Given the description of an element on the screen output the (x, y) to click on. 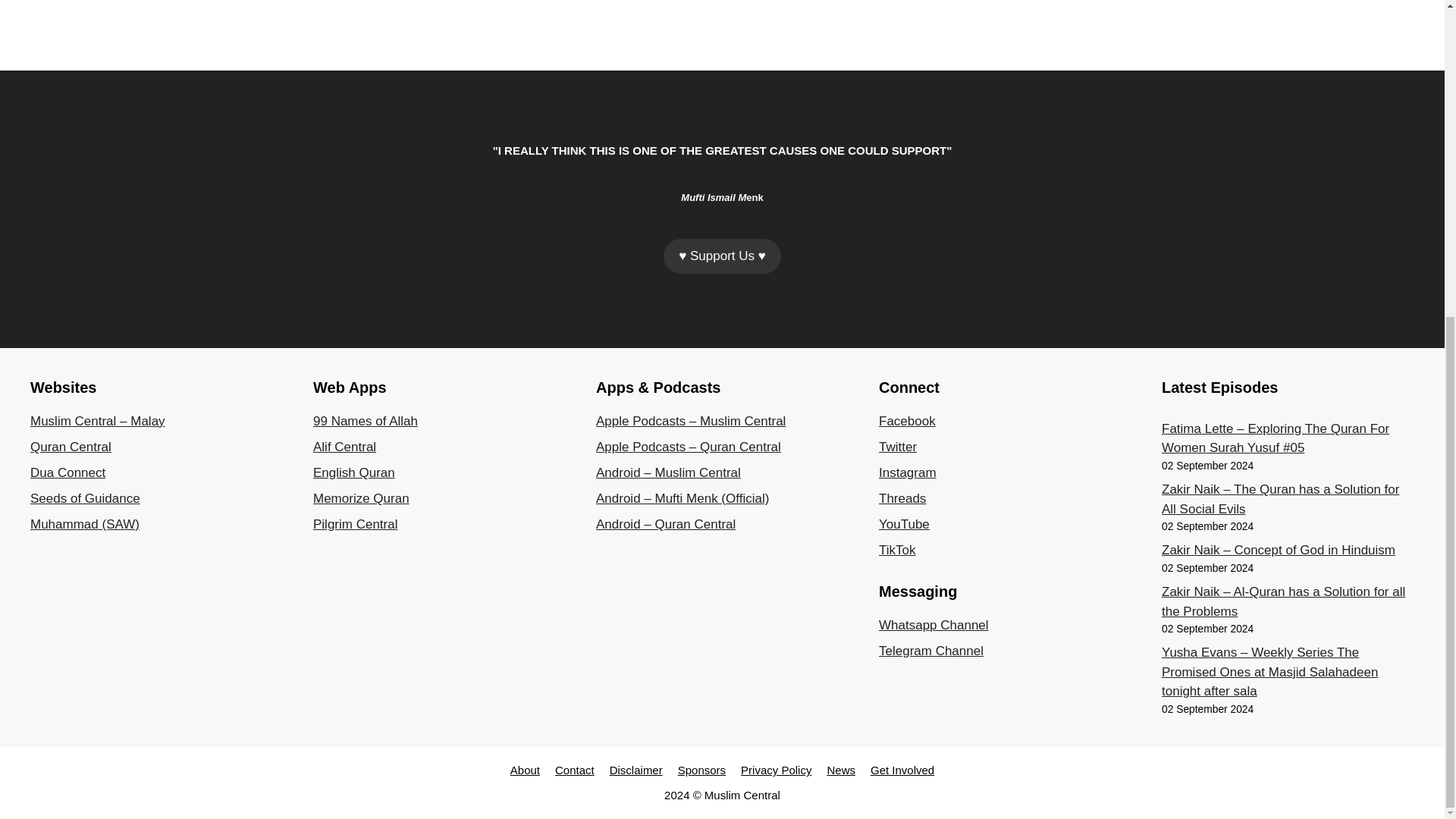
Dua Connect (67, 472)
Quran Central (71, 446)
99 Names of Allah (365, 421)
Alif Central (344, 446)
Pilgrim Central (355, 523)
Twitter (898, 446)
Seeds of Guidance (84, 498)
English Quran (353, 472)
Memorize Quran (361, 498)
Facebook (907, 421)
